Given the description of an element on the screen output the (x, y) to click on. 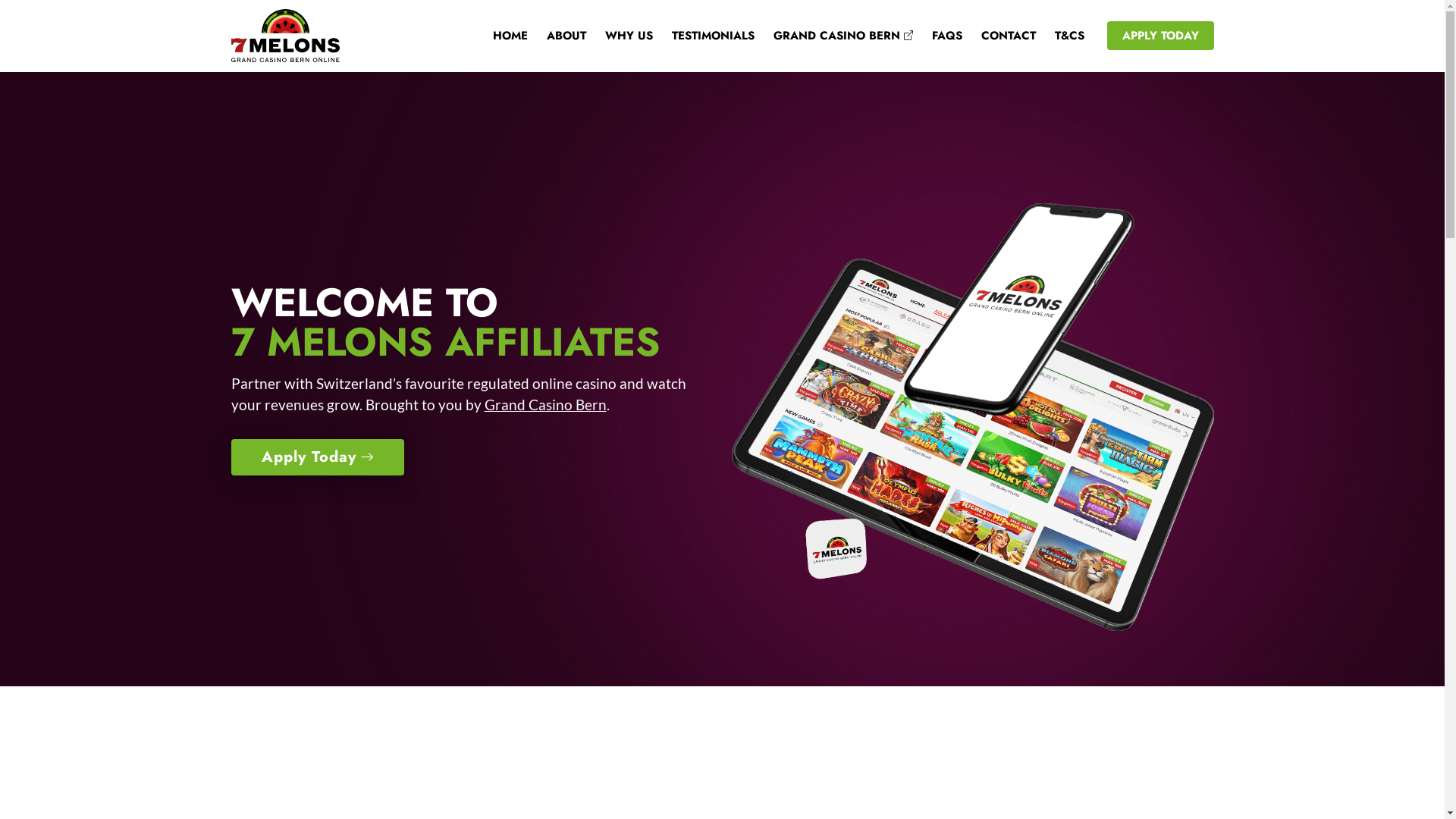
Apply Today Element type: text (316, 457)
WHY US Element type: text (618, 35)
GRAND CASINO BERN Element type: text (832, 35)
FAQS Element type: text (937, 35)
CONTACT Element type: text (998, 35)
TESTIMONIALS Element type: text (702, 35)
T&CS Element type: text (1059, 35)
HOME Element type: text (500, 35)
APPLY TODAY Element type: text (1160, 35)
ABOUT Element type: text (556, 35)
Grand Casino Bern Element type: text (544, 404)
